Given the description of an element on the screen output the (x, y) to click on. 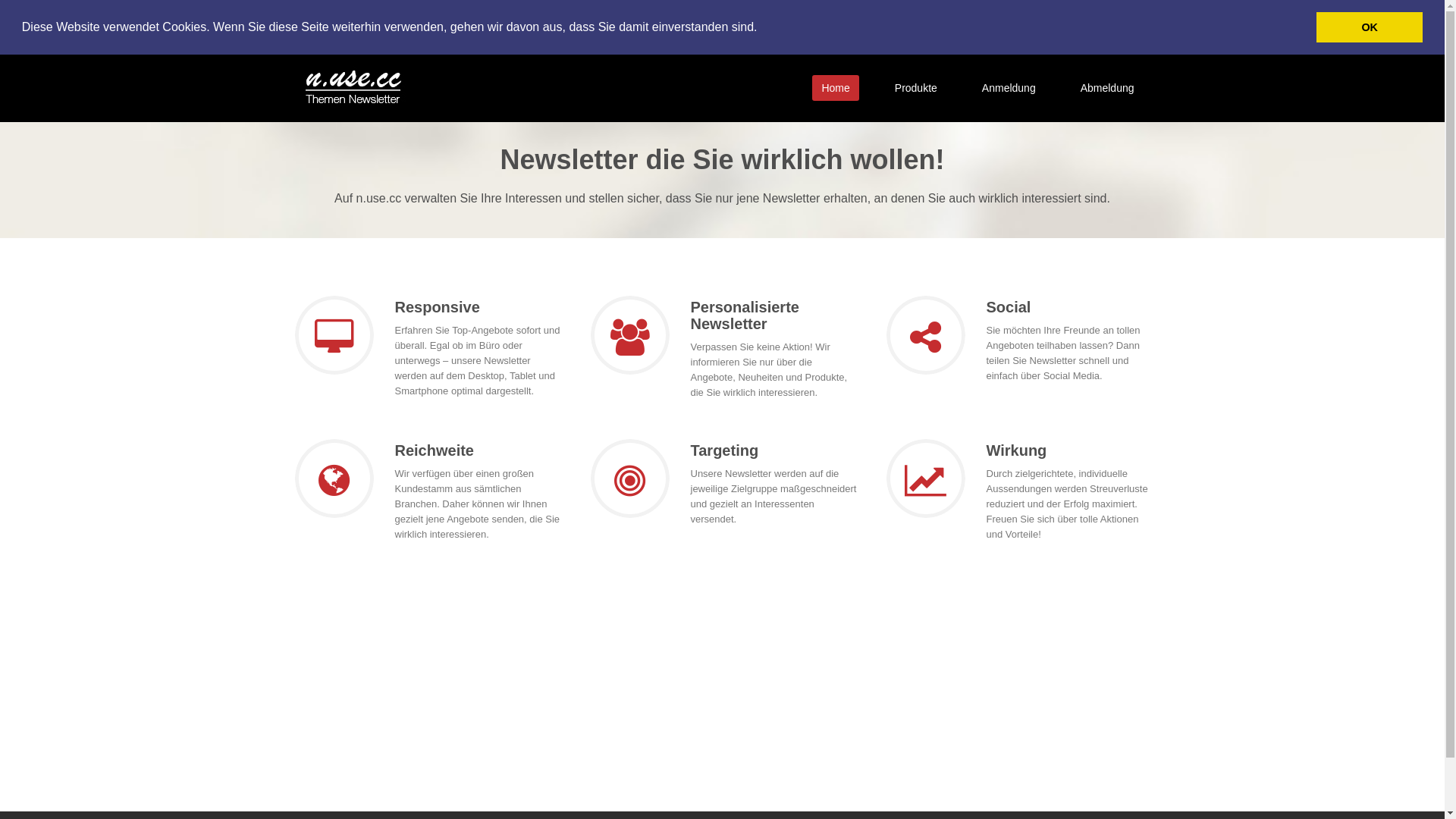
Produkte Element type: text (915, 87)
Home Element type: text (835, 87)
Abmeldung Element type: text (1107, 87)
OK Element type: text (1369, 27)
Anmeldung Element type: text (1008, 87)
